Given the description of an element on the screen output the (x, y) to click on. 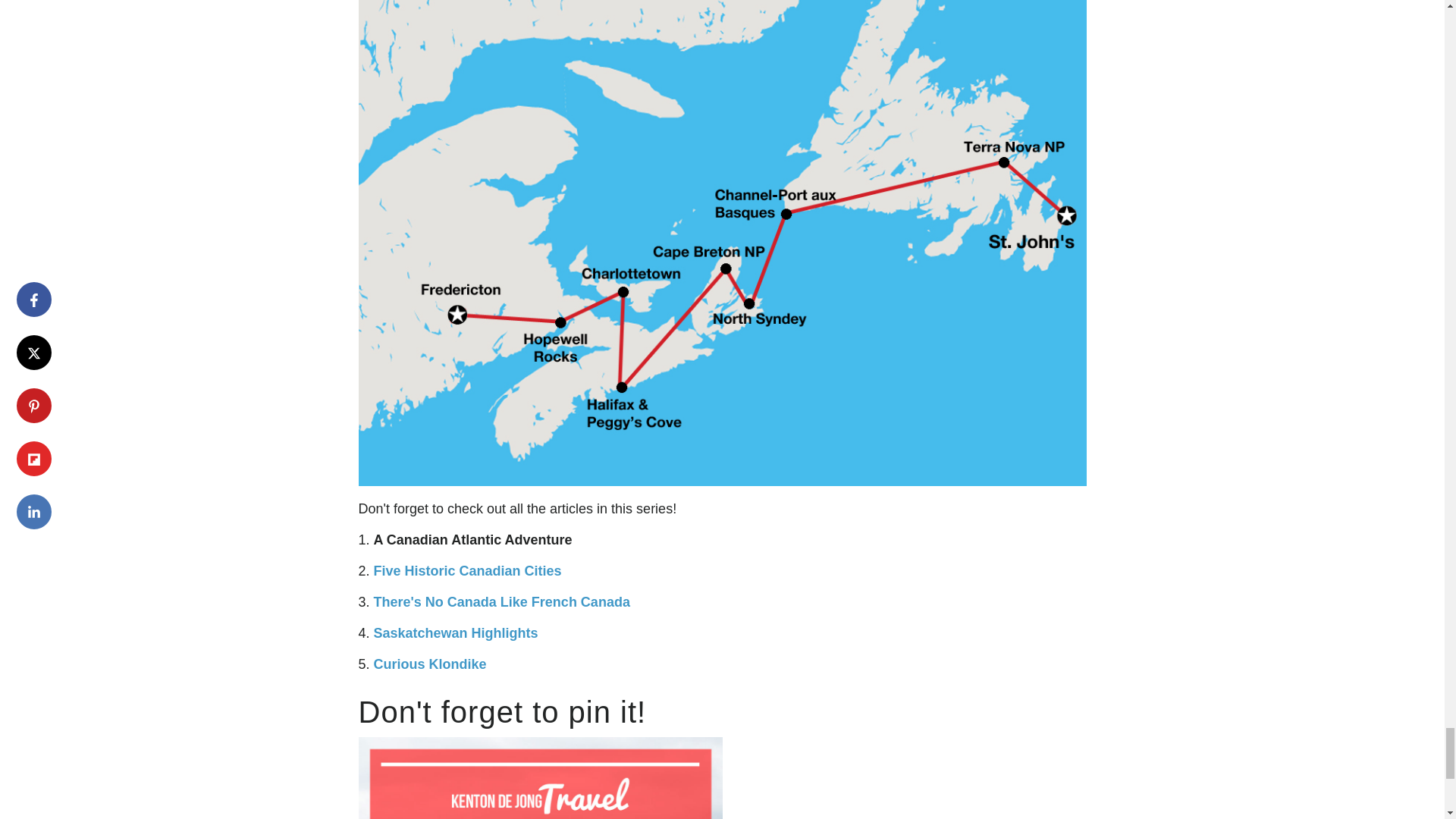
Saskatchewan Highlights (456, 632)
Curious Klondike (430, 663)
Five Historic Canadian Cities (468, 570)
There's No Canada Like French Canada (502, 601)
